Given the description of an element on the screen output the (x, y) to click on. 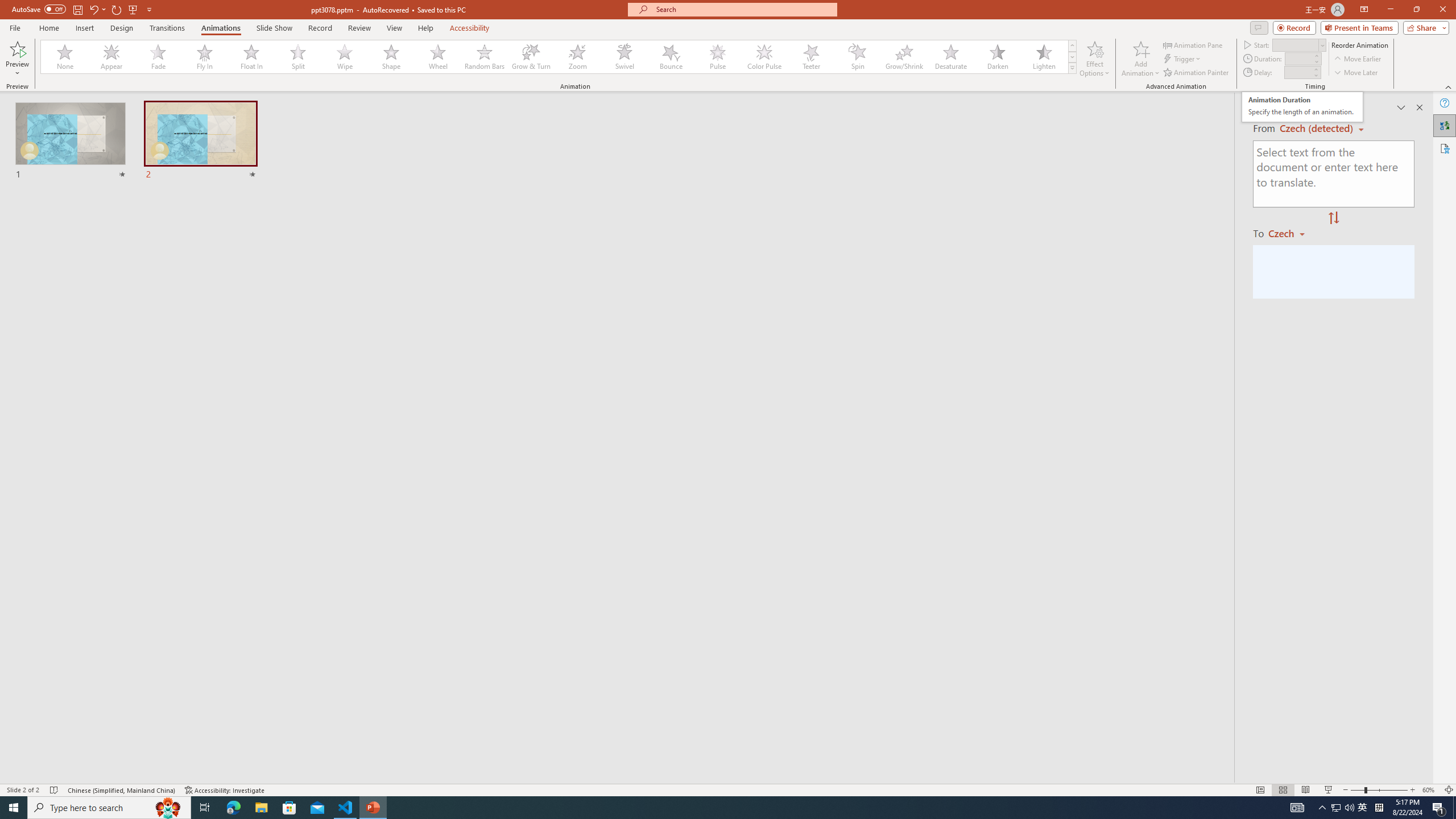
Move Earlier (1357, 58)
Desaturate (950, 56)
Wheel (437, 56)
Grow/Shrink (903, 56)
Darken (997, 56)
Trigger (1182, 58)
